Given the description of an element on the screen output the (x, y) to click on. 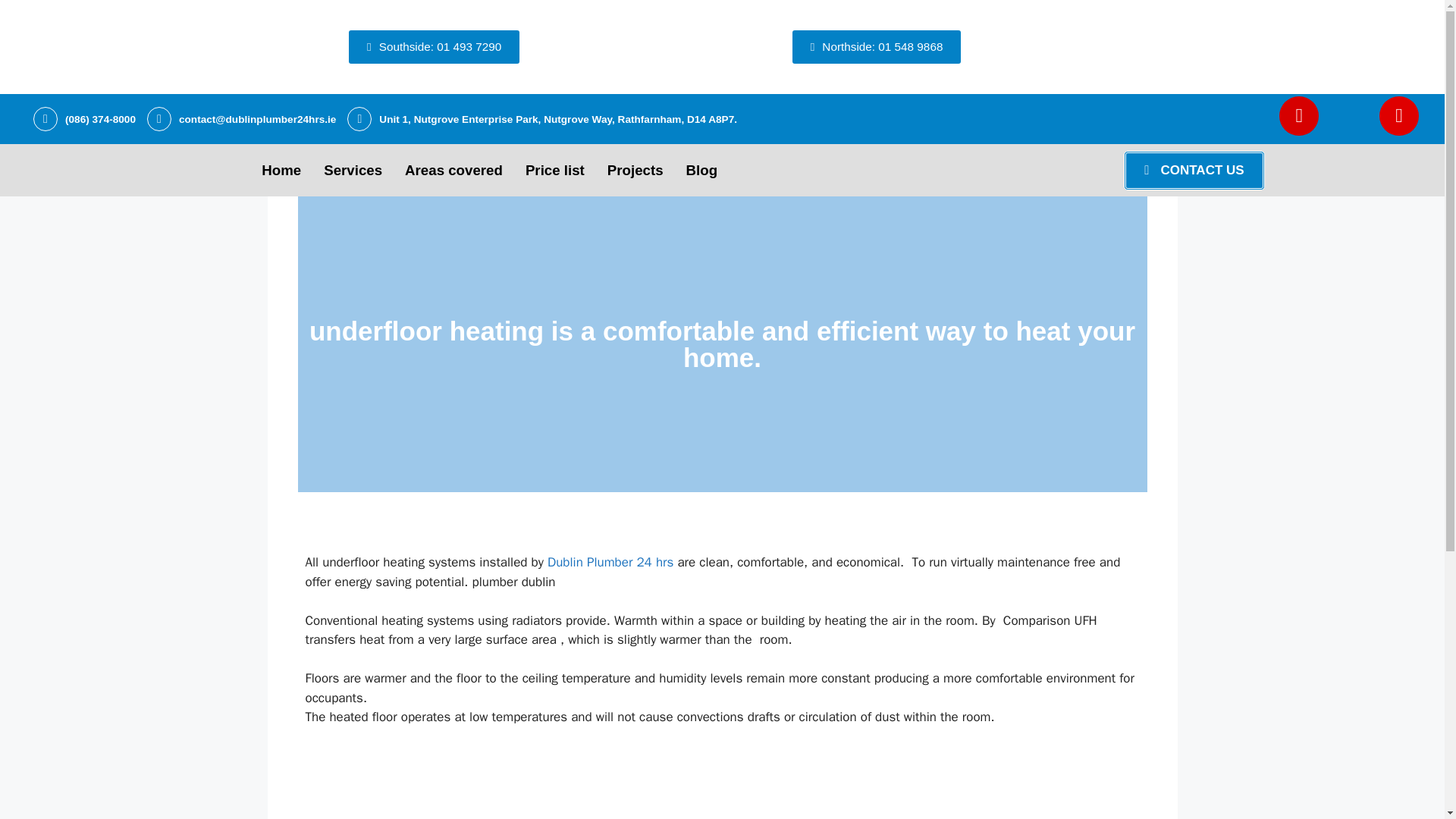
Blog (702, 170)
Services (352, 170)
Home (280, 170)
Northside: 01 548 9868 (876, 46)
Price list (554, 170)
Dublin Plumber 24 hrs (609, 562)
Southside: 01 493 7290 (434, 46)
Projects (635, 170)
Areas covered (453, 170)
CONTACT US (1193, 170)
